Given the description of an element on the screen output the (x, y) to click on. 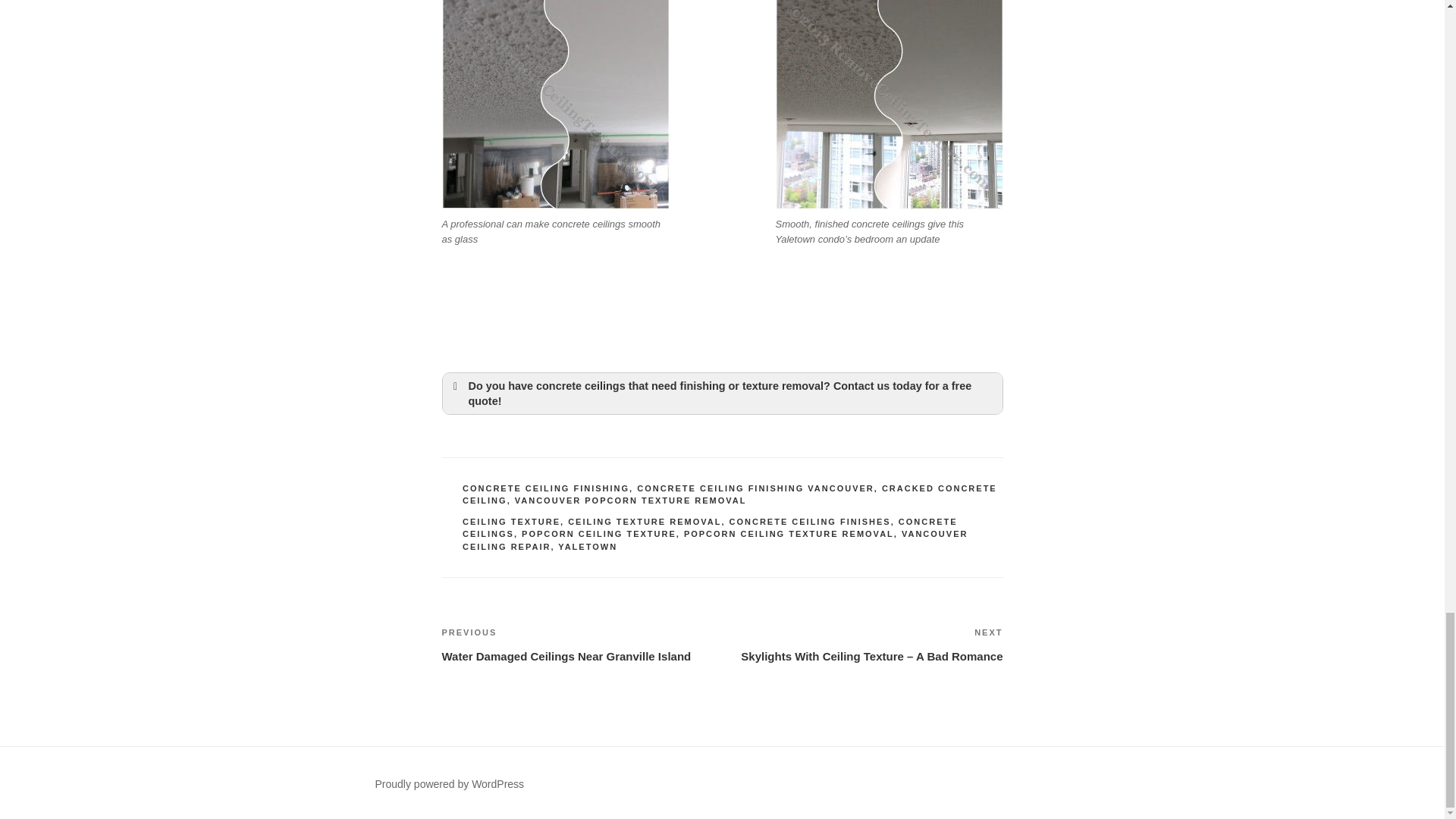
POPCORN CEILING TEXTURE REMOVAL (788, 533)
YALETOWN (587, 546)
CONCRETE CEILING FINISHING (545, 488)
CONCRETE CEILING FINISHING VANCOUVER (756, 488)
POPCORN CEILING TEXTURE (599, 533)
CRACKED CONCRETE CEILING (730, 495)
CONCRETE CEILINGS (710, 527)
Proudly powered by WordPress (449, 784)
CEILING TEXTURE REMOVAL (643, 521)
VANCOUVER CEILING REPAIR (715, 540)
